Given the description of an element on the screen output the (x, y) to click on. 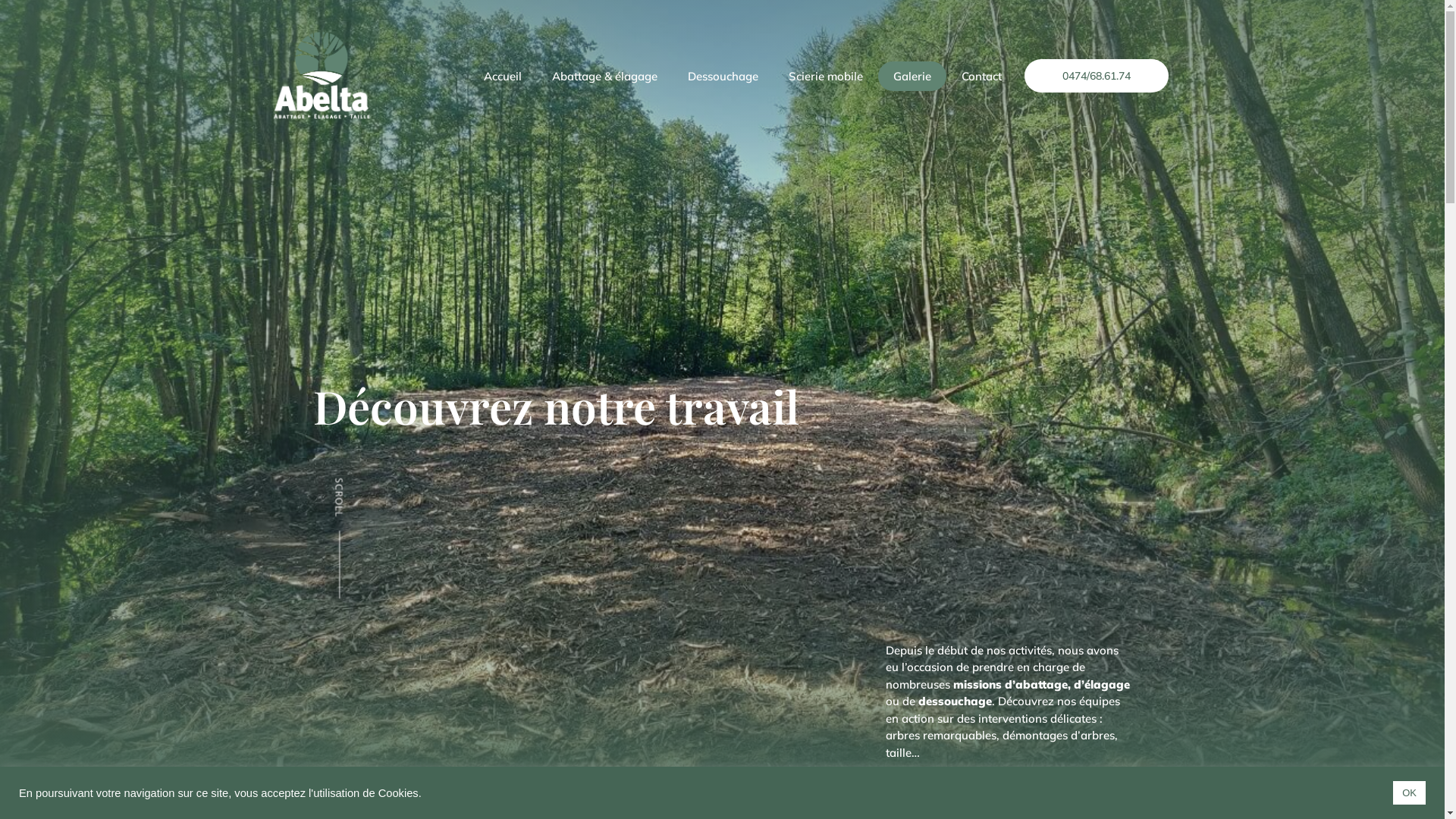
0474/68.61.74 Element type: text (1096, 75)
Dessouchage Element type: text (722, 75)
Accueil Element type: text (502, 75)
Galerie Element type: text (912, 75)
OK Element type: text (1409, 792)
Scierie mobile Element type: text (825, 75)
Contact Element type: text (981, 75)
